Given the description of an element on the screen output the (x, y) to click on. 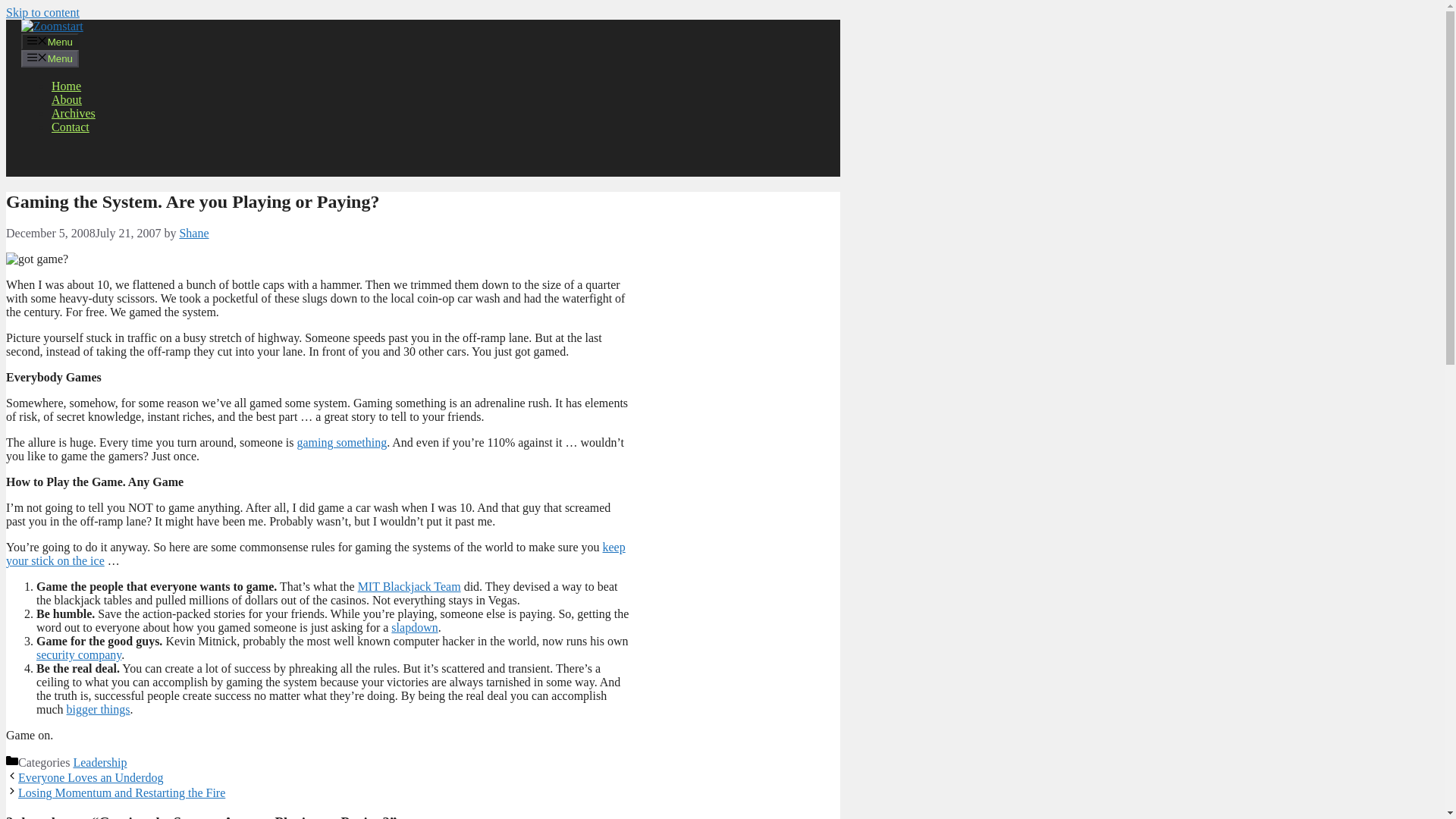
About (65, 99)
Menu (49, 41)
Archives (73, 113)
Home (65, 85)
Skip to content (42, 11)
Contact (69, 126)
View all posts by Shane (193, 232)
keep your stick on the ice (315, 553)
slapdown (414, 626)
bigger things (98, 708)
